Given the description of an element on the screen output the (x, y) to click on. 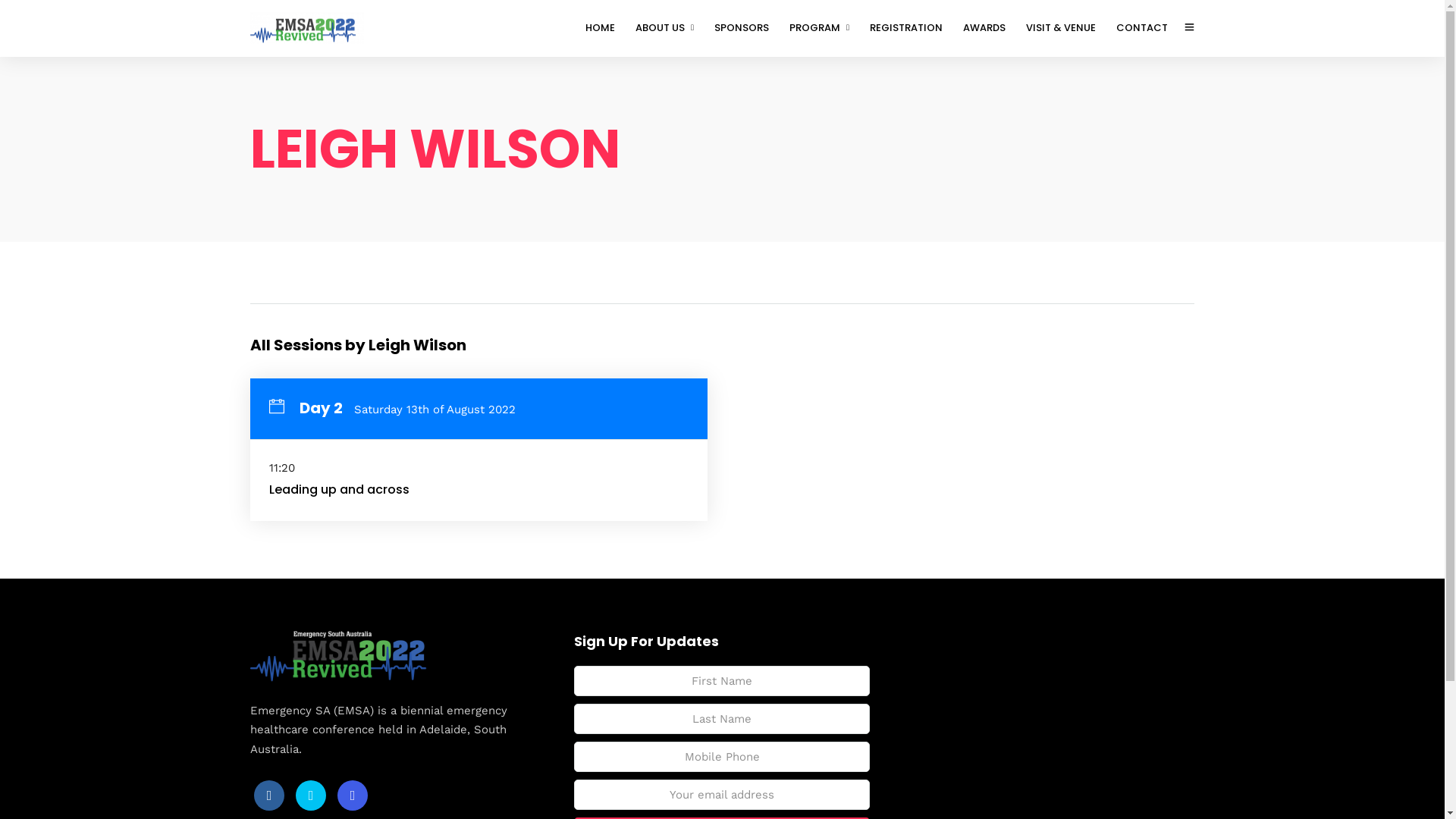
Instagram Element type: hover (352, 795)
HOME Element type: text (606, 28)
ABOUT US Element type: text (670, 28)
REGISTRATION Element type: text (912, 28)
VISIT & VENUE Element type: text (1067, 28)
AWARDS Element type: text (990, 28)
CONTACT Element type: text (1148, 28)
Twitter Element type: hover (310, 795)
SPONSORS Element type: text (747, 28)
Facebook Element type: hover (269, 795)
PROGRAM Element type: text (825, 28)
